Given the description of an element on the screen output the (x, y) to click on. 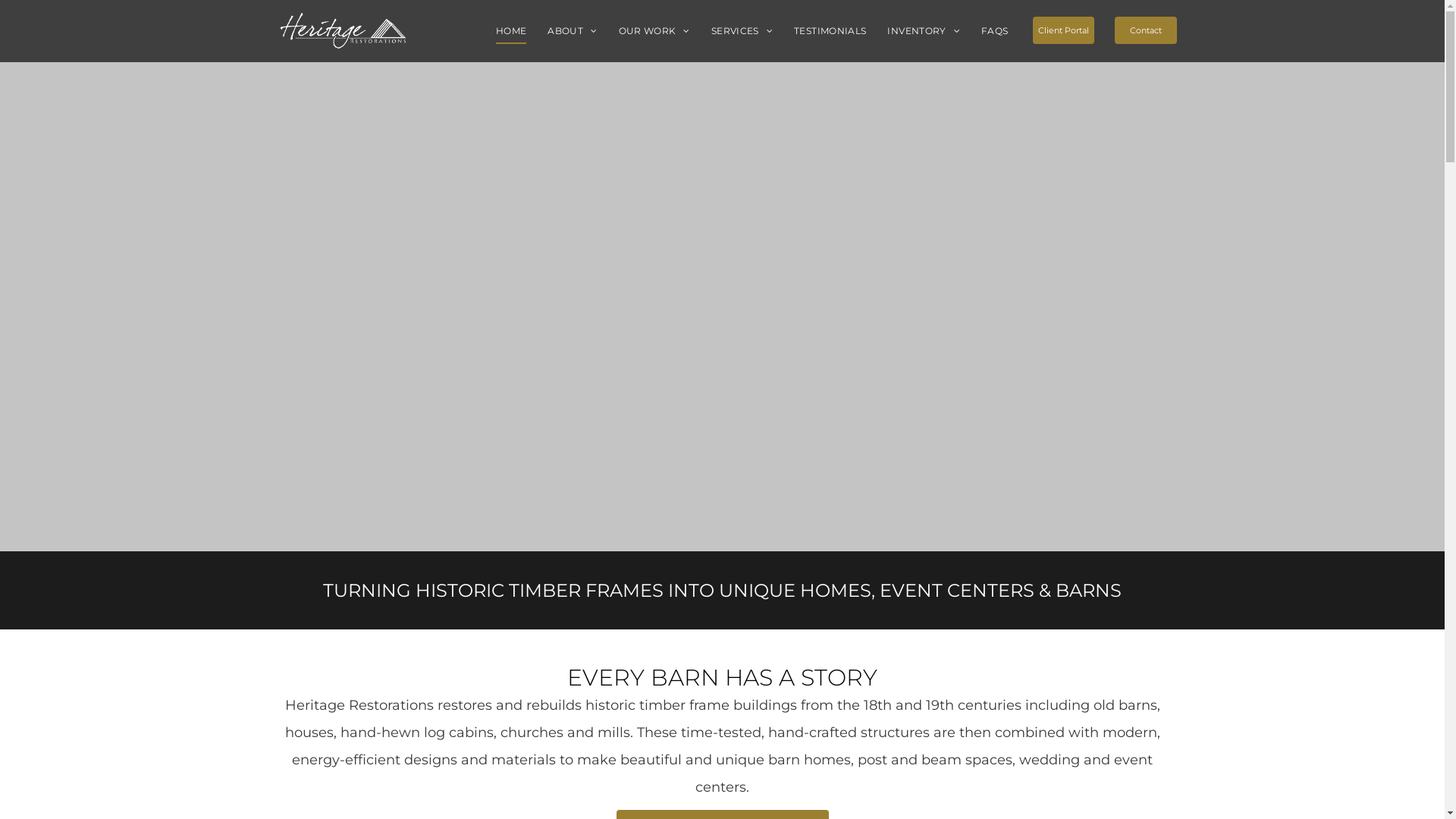
SERVICES Element type: text (741, 30)
OUR WORK Element type: text (654, 30)
Contact Element type: text (1145, 29)
HOME Element type: text (510, 30)
INVENTORY Element type: text (923, 30)
TESTIMONIALS Element type: text (829, 30)
FAQS Element type: text (994, 30)
ABOUT Element type: text (571, 30)
Client Portal Element type: text (1063, 29)
